Given the description of an element on the screen output the (x, y) to click on. 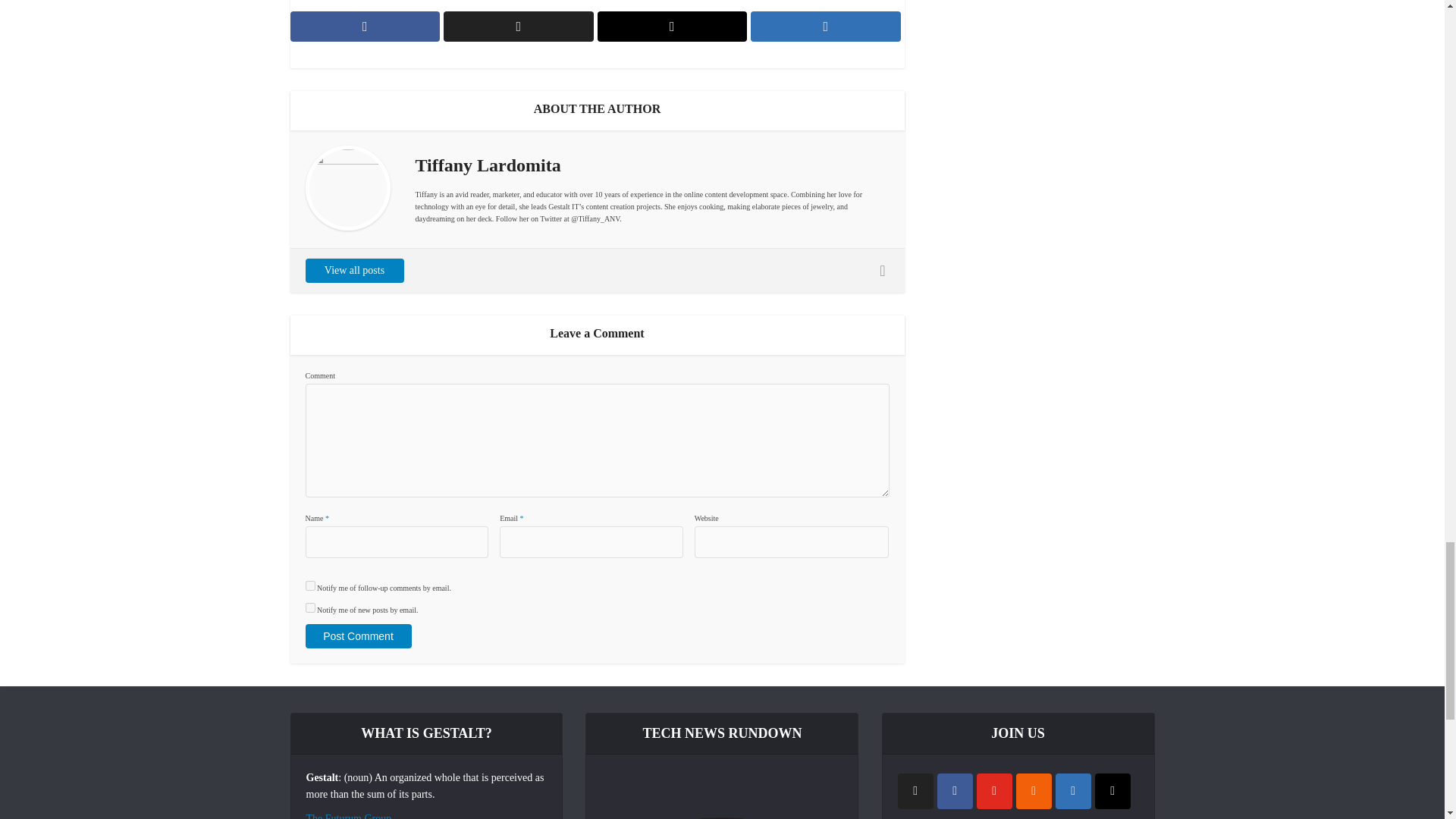
View all posts (353, 270)
Post Comment (357, 636)
subscribe (309, 585)
YouTube (993, 791)
Facebook (954, 791)
subscribe (309, 607)
